Given the description of an element on the screen output the (x, y) to click on. 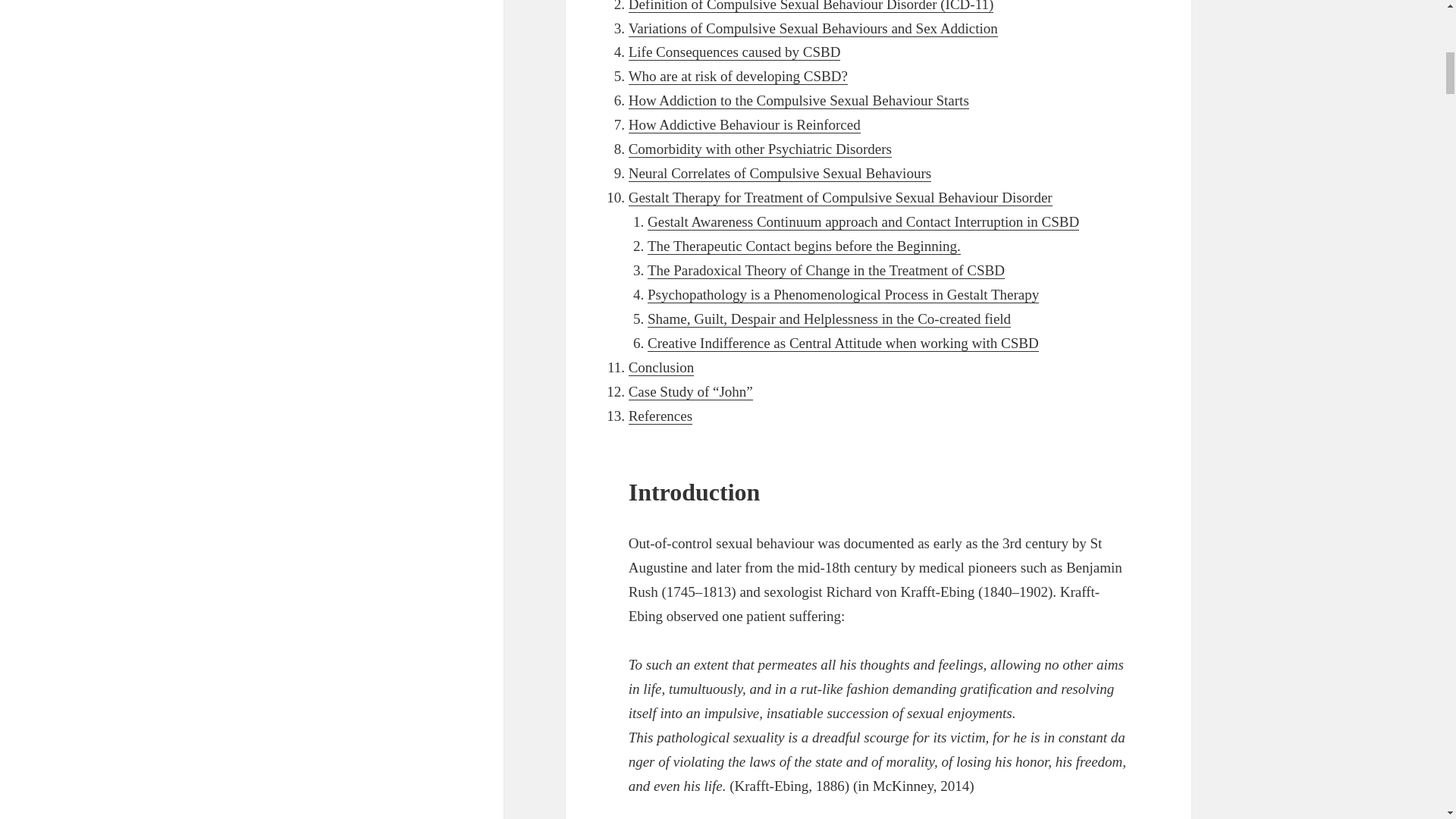
Neural Correlates of Compulsive Sexual Behaviours (779, 173)
How Addictive Behaviour is Reinforced (744, 125)
Life Consequences caused by CSBD (734, 52)
Comorbidity with other Psychiatric Disorders (759, 149)
Variations of Compulsive Sexual Behaviours and Sex Addiction (812, 27)
References (660, 416)
Who are at risk of developing CSBD? (737, 76)
How Addiction to the Compulsive Sexual Behaviour Starts (798, 100)
The Therapeutic Contact begins before the Beginning. (803, 246)
The Paradoxical Theory of Change in the Treatment of CSBD (825, 270)
Conclusion (661, 367)
